Given the description of an element on the screen output the (x, y) to click on. 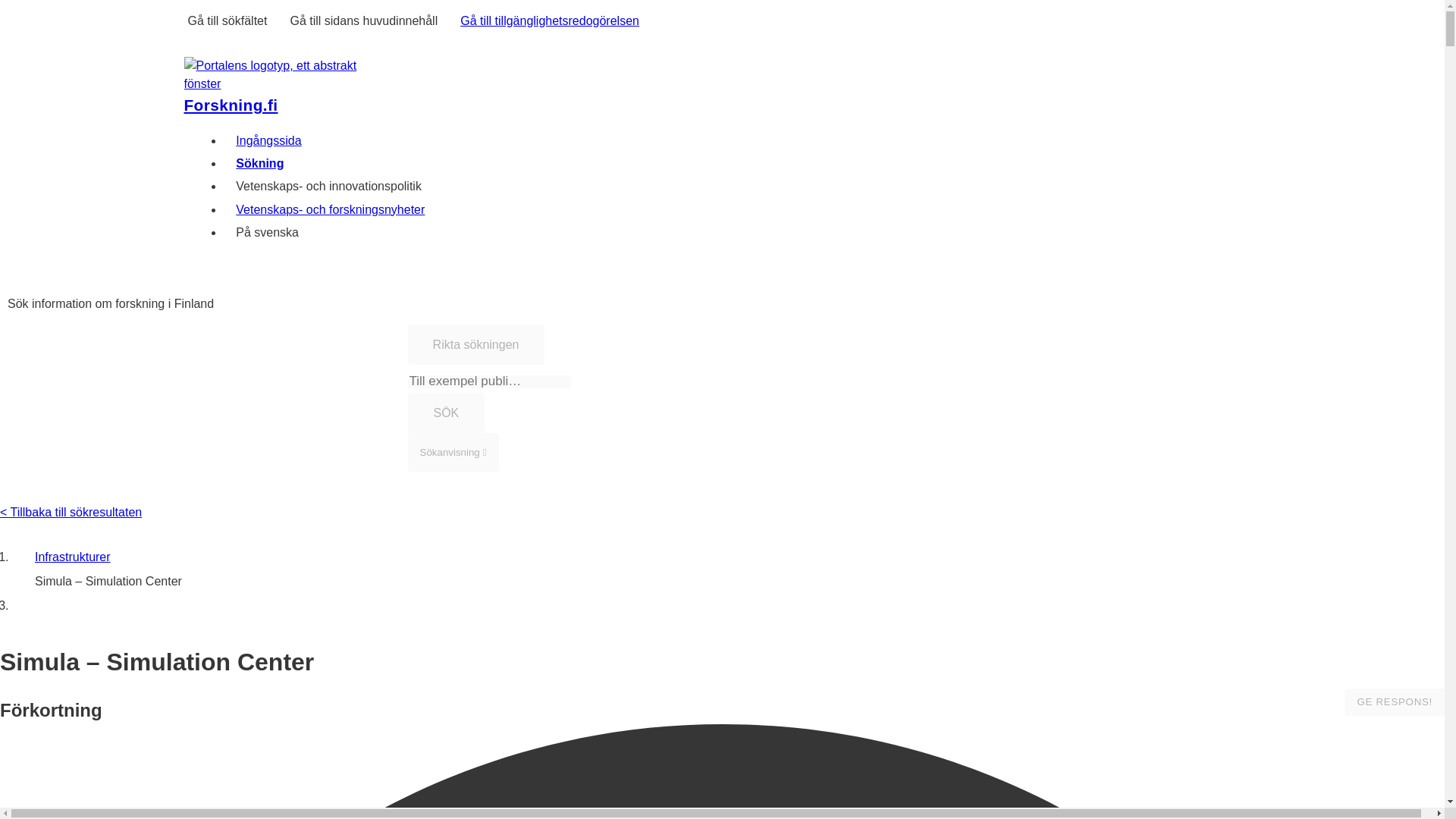
Infrastrukturer (72, 556)
Forskning.fi (230, 104)
Vetenskaps- och innovationspolitik (328, 186)
Vetenskaps- och forskningsnyheter (330, 210)
